Given the description of an element on the screen output the (x, y) to click on. 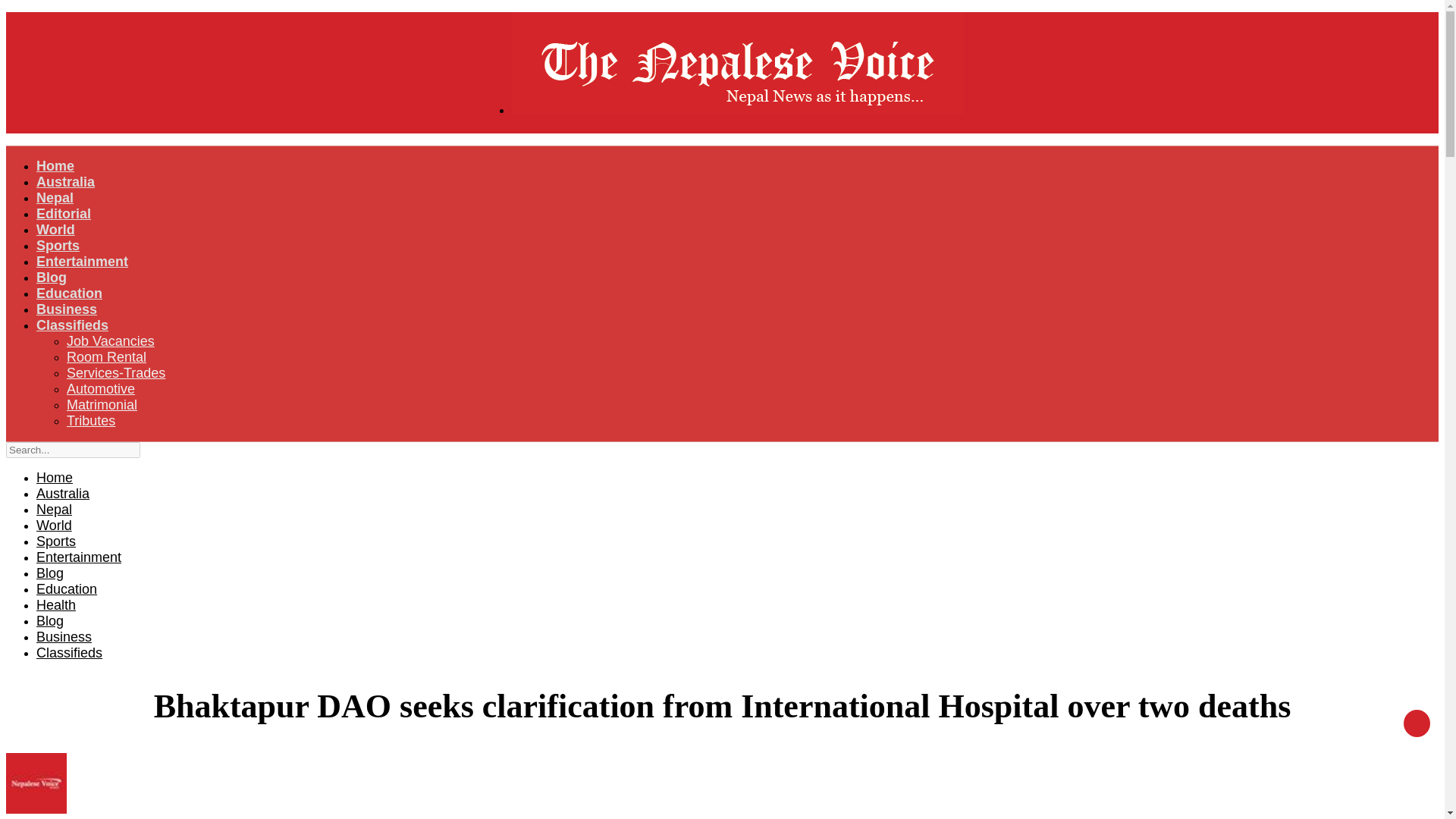
Services-Trades (115, 372)
Education (66, 589)
Australia (62, 493)
Education (68, 293)
Entertainment (78, 557)
Health (55, 604)
Business (66, 309)
Nepal (55, 197)
Matrimonial (101, 404)
Entertainment (82, 261)
Home (55, 165)
Nepal (53, 509)
Sports (55, 540)
Blog (51, 277)
Room Rental (106, 356)
